Given the description of an element on the screen output the (x, y) to click on. 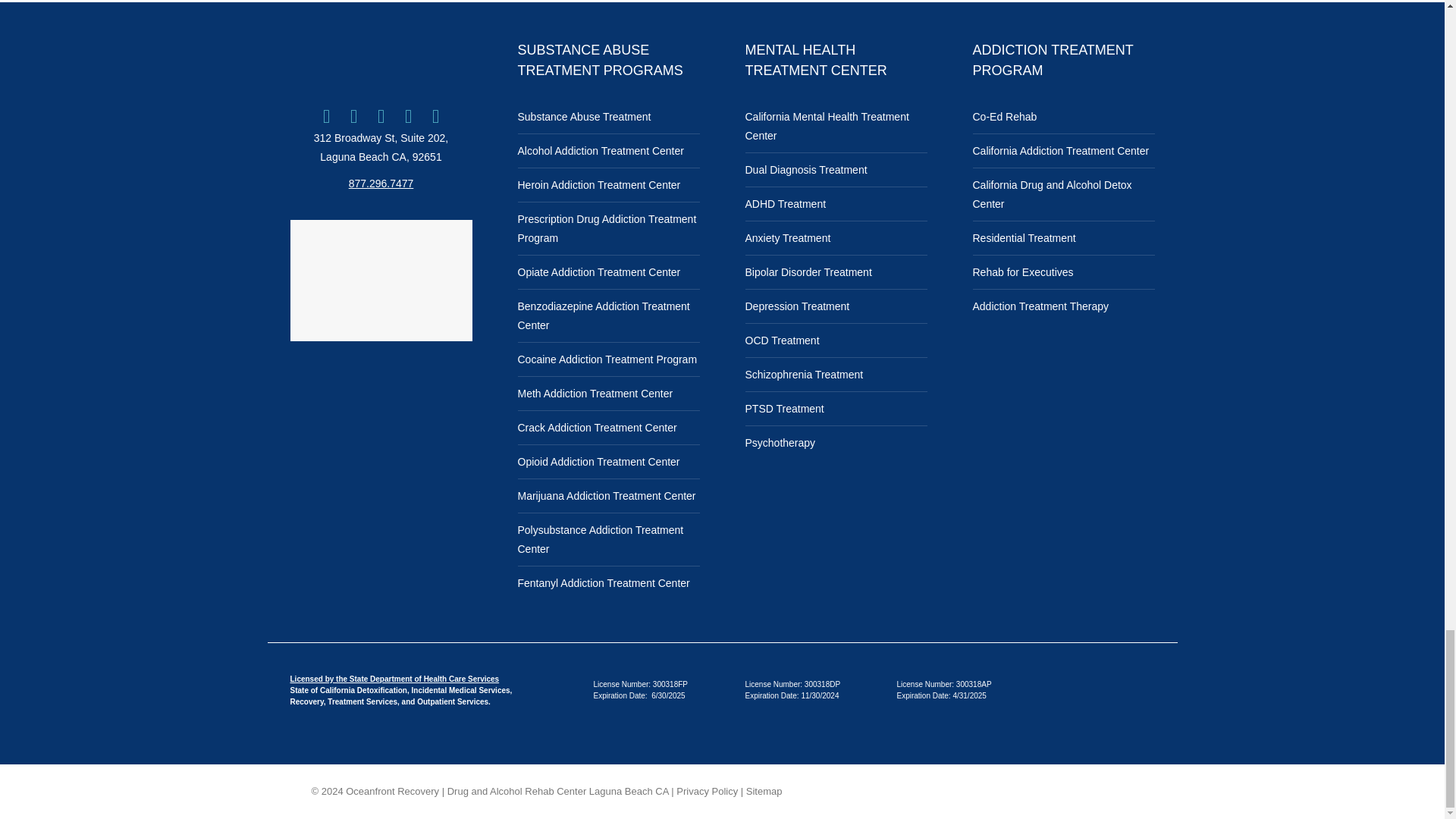
Twitter (353, 116)
Instagram (381, 116)
YouTube (408, 116)
Ocean-Recovery-Logo-450 (380, 60)
Facebook (326, 116)
Pinterest (435, 116)
